Given the description of an element on the screen output the (x, y) to click on. 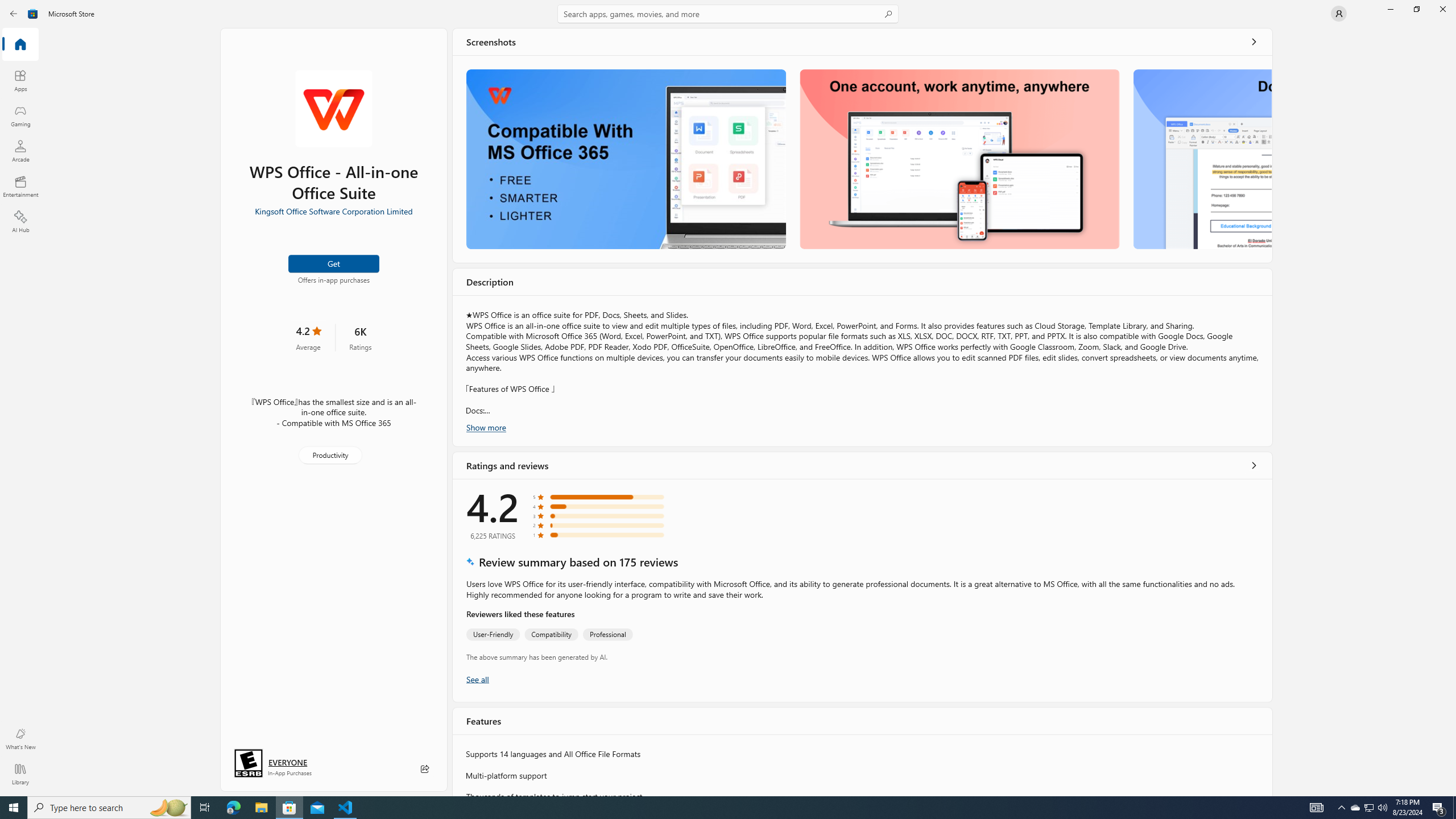
Screenshot 1 (625, 158)
Search (727, 13)
Show more (485, 426)
Show all ratings and reviews (477, 678)
Share (424, 769)
AutomationID: NavigationControl (728, 398)
Productivity (329, 454)
Show all ratings and reviews (1253, 465)
